Given the description of an element on the screen output the (x, y) to click on. 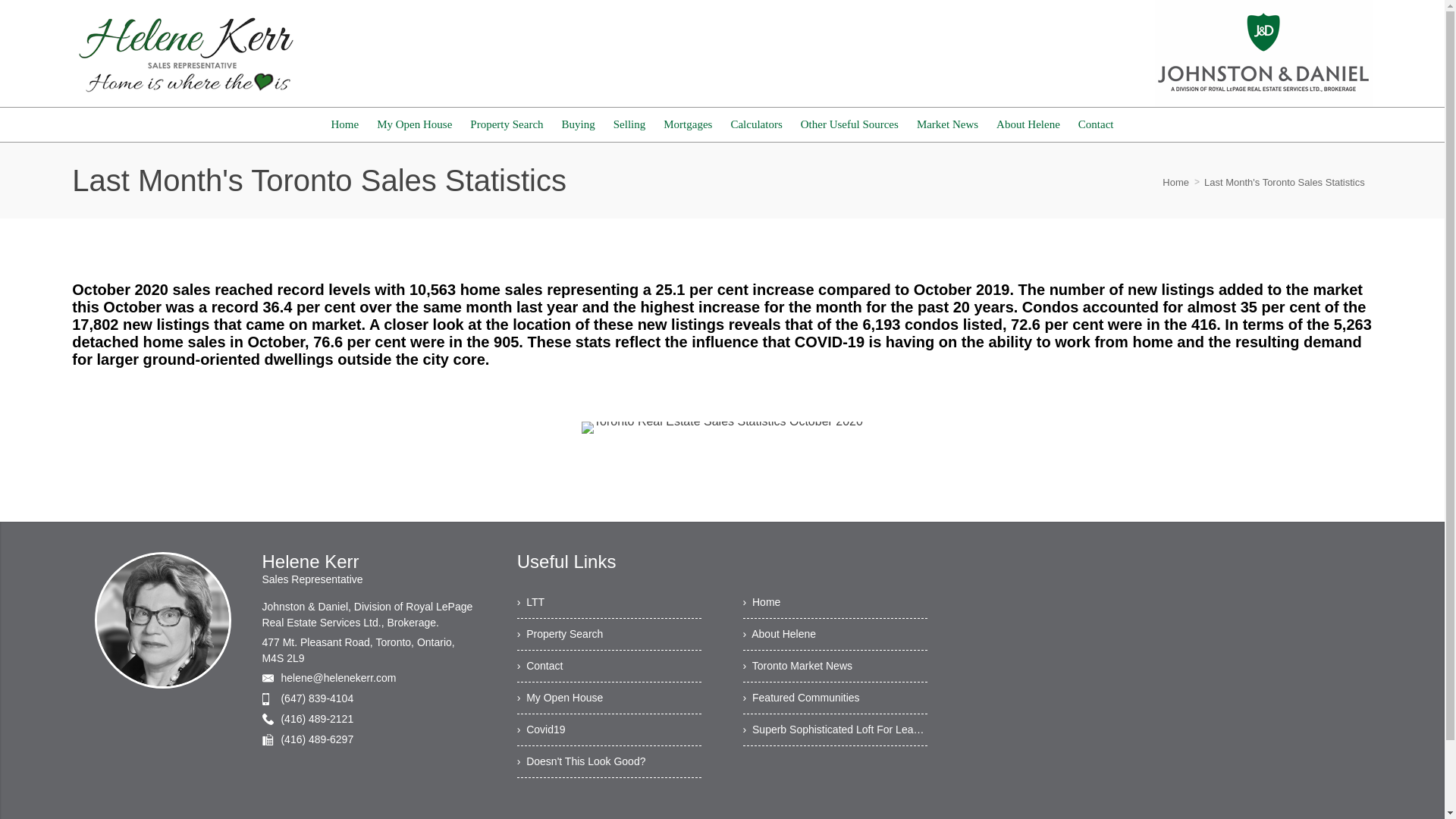
Home (344, 124)
My Open House (414, 124)
Mortgages (686, 124)
Calculators (755, 124)
My Open House (414, 124)
Buying (578, 124)
Selling (629, 124)
Buying (578, 124)
Helene Kerr Real Estate (185, 53)
Selling (629, 124)
